Given the description of an element on the screen output the (x, y) to click on. 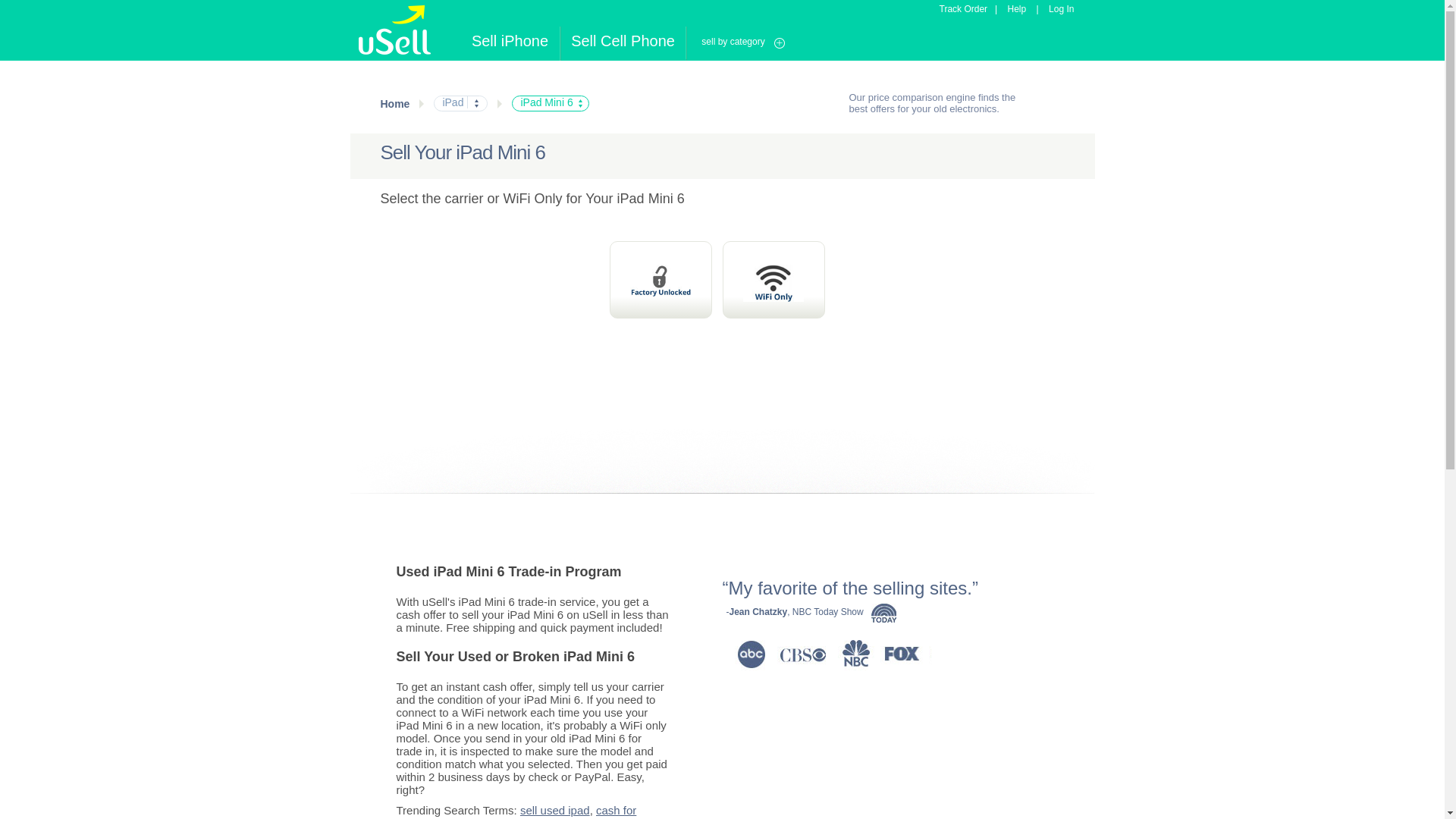
uSell Press (883, 612)
Sell iPhone (510, 43)
iPad (450, 102)
uSell Press (826, 654)
Track Order (963, 9)
Sell Cell Phone (622, 43)
sell used ipad (554, 809)
Help (1016, 9)
Home (395, 103)
Log In (1061, 9)
Opens a widget where you can find more information (1386, 792)
